Given the description of an element on the screen output the (x, y) to click on. 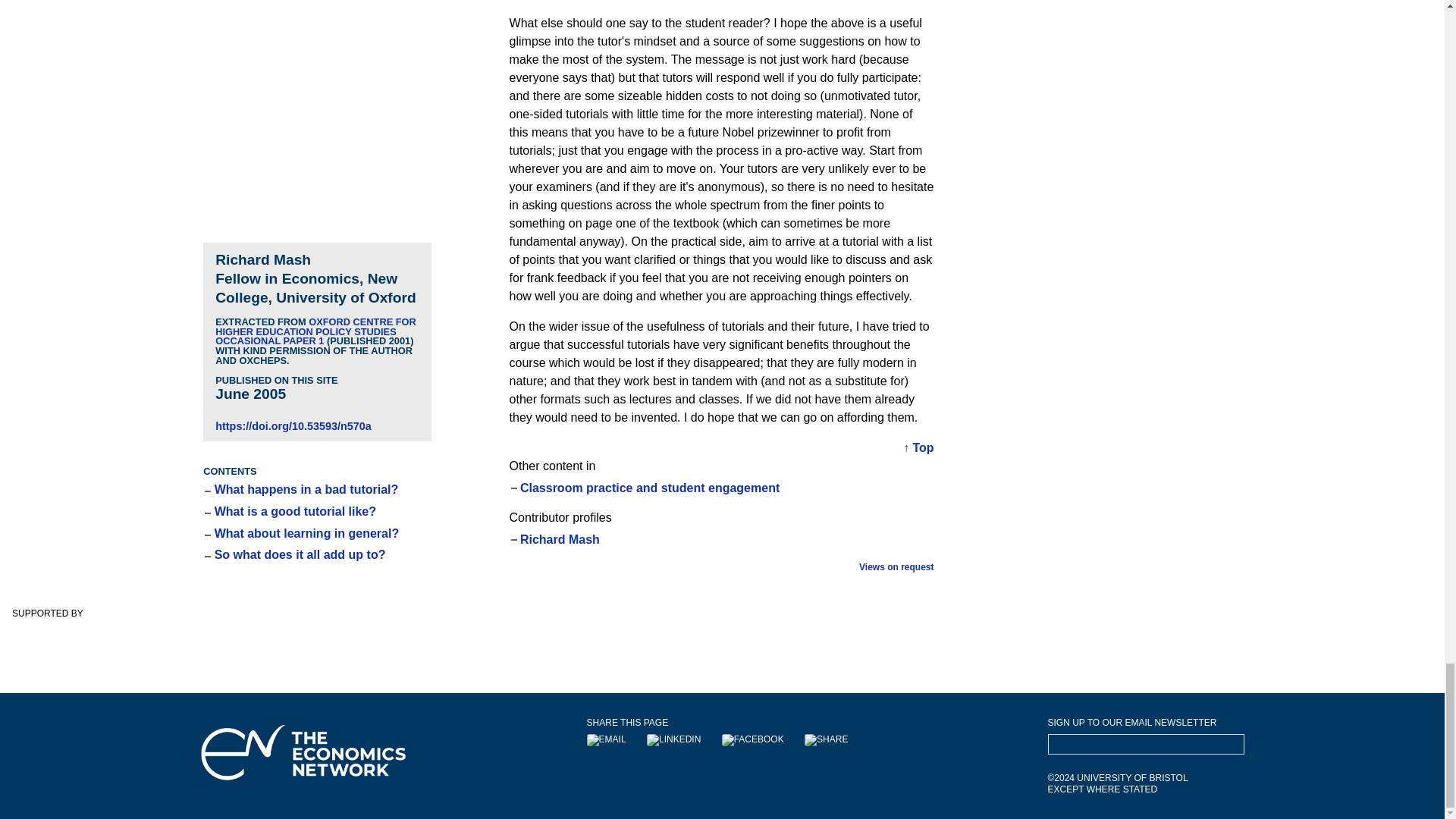
Royal Economic Society (277, 641)
University College London (1364, 641)
Classroom practice and student engagement (648, 487)
University of East Anglia (993, 641)
Share this page on Facebook (762, 738)
Share or bookmark this page (835, 738)
University of Bristol (80, 639)
Send an email with this web address (615, 738)
University of Oxford (1162, 641)
Scottish Economic Society (536, 641)
